Given the description of an element on the screen output the (x, y) to click on. 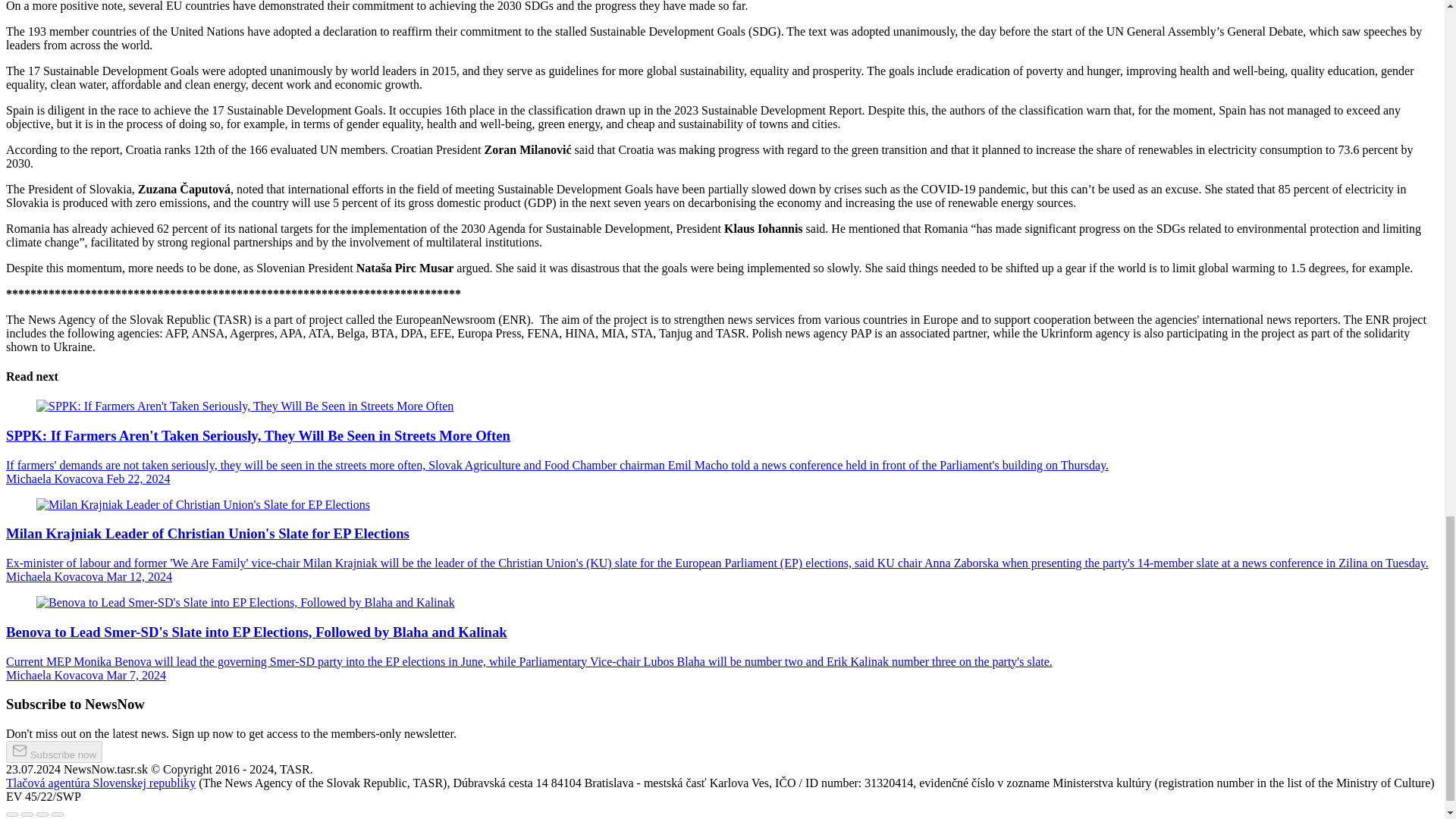
Share (27, 814)
Toggle fullscreen (42, 814)
Subscribe now (53, 751)
